Given the description of an element on the screen output the (x, y) to click on. 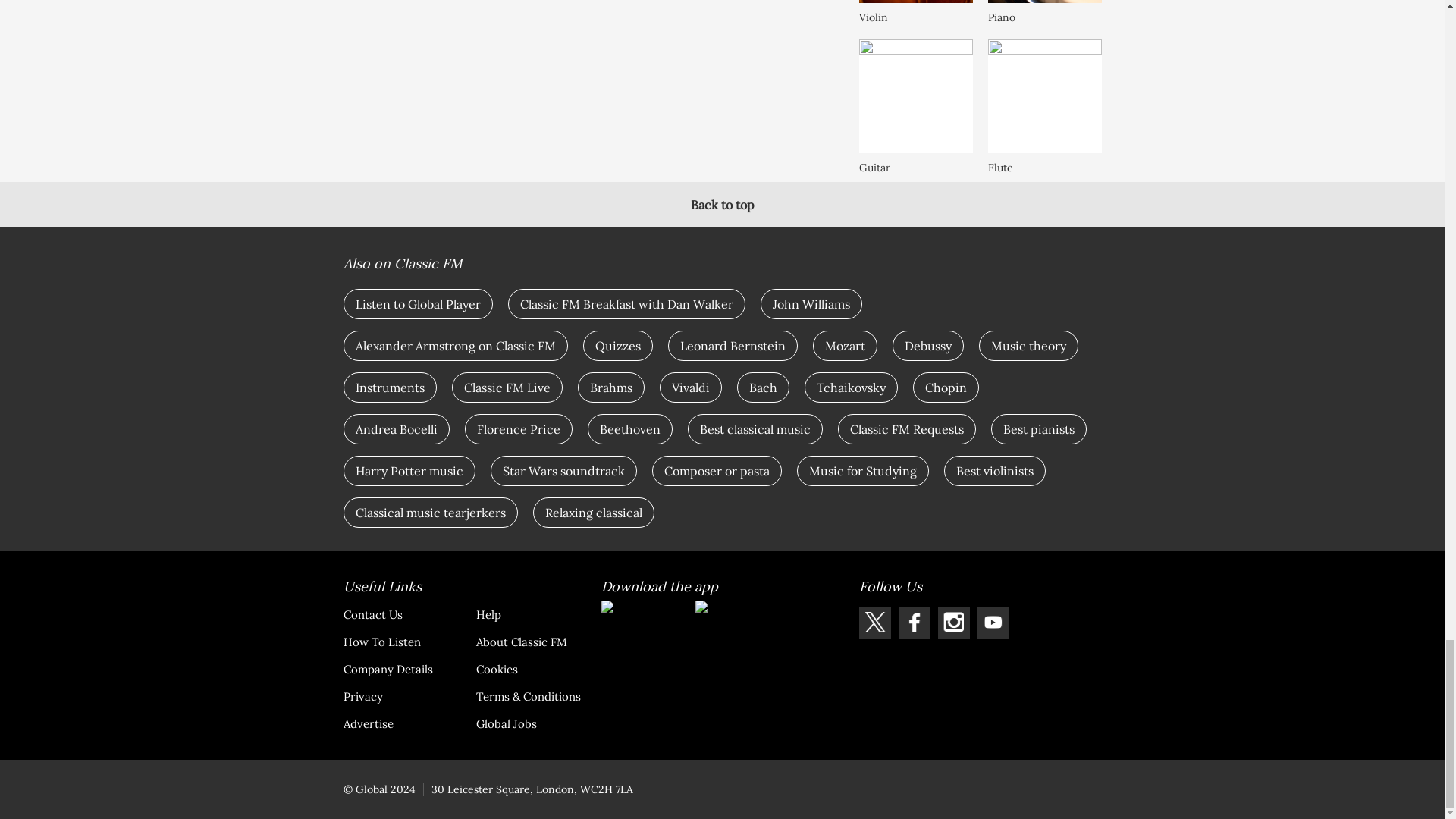
Follow Classic FM on X (874, 622)
Back to top (722, 204)
Follow Classic FM on Instagram (953, 622)
Follow Classic FM on Youtube (992, 622)
Follow Classic FM on Facebook (914, 622)
